Given the description of an element on the screen output the (x, y) to click on. 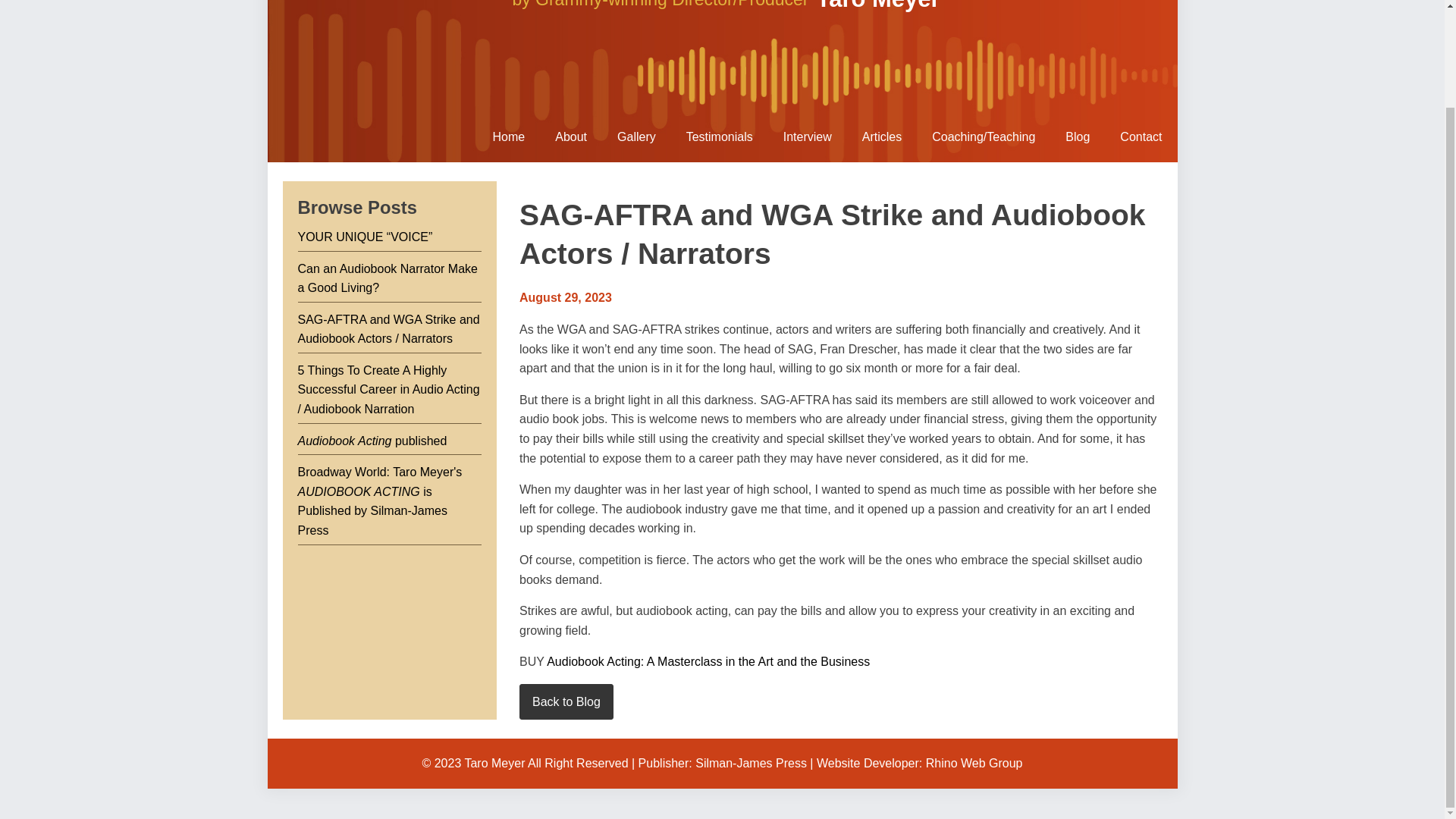
Silman-James Press (750, 762)
Audiobook Acting: A Masterclass in the Art and the Business (708, 661)
Gallery (636, 137)
Articles (882, 137)
Back to Blog (565, 701)
Can an Audiobook Narrator Make a Good Living? (387, 278)
Interview (807, 137)
Testimonials (719, 137)
Home (508, 137)
